Given the description of an element on the screen output the (x, y) to click on. 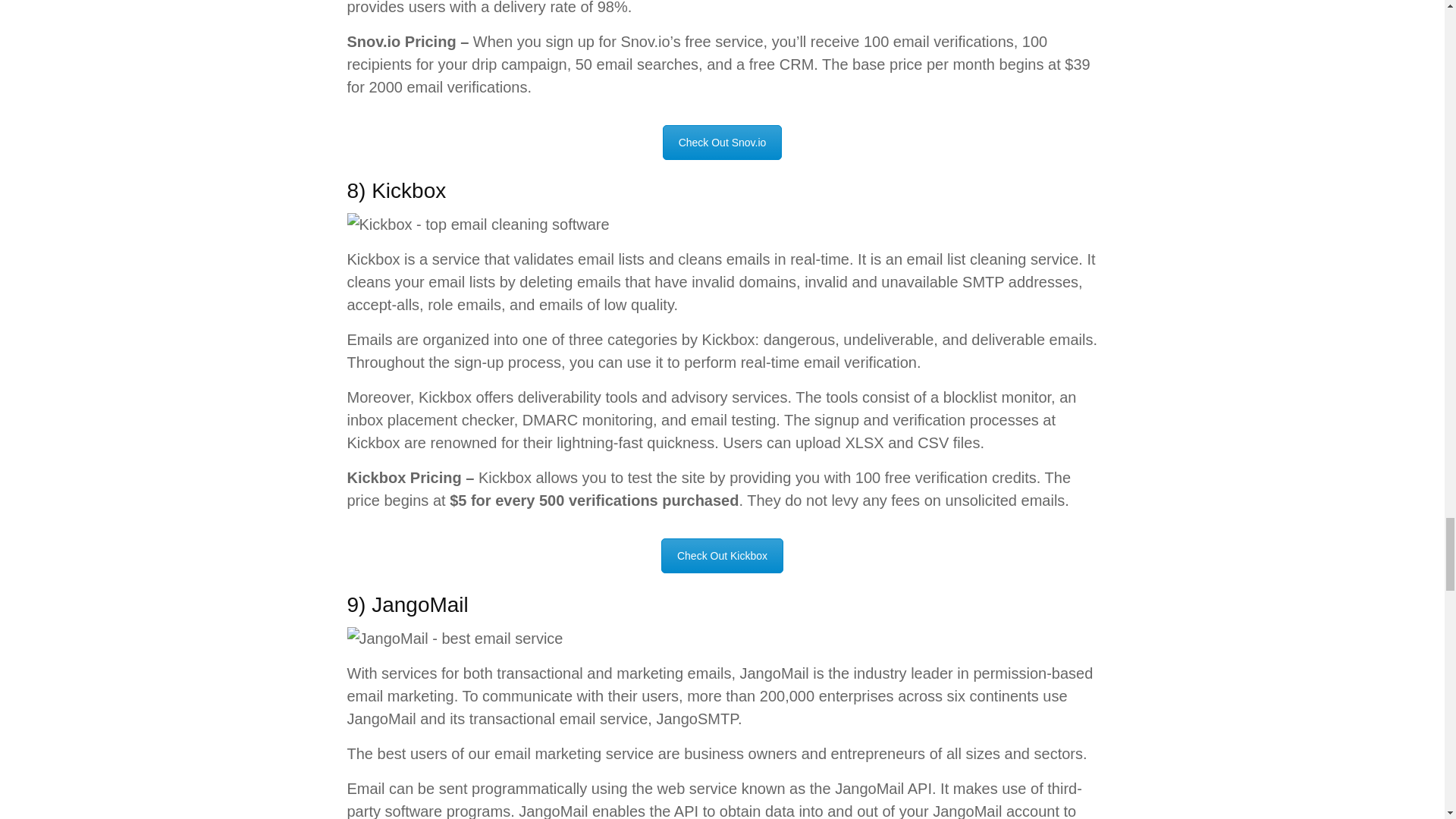
Check Out Kickbox (722, 555)
Check Out Snov.io (722, 142)
